Given the description of an element on the screen output the (x, y) to click on. 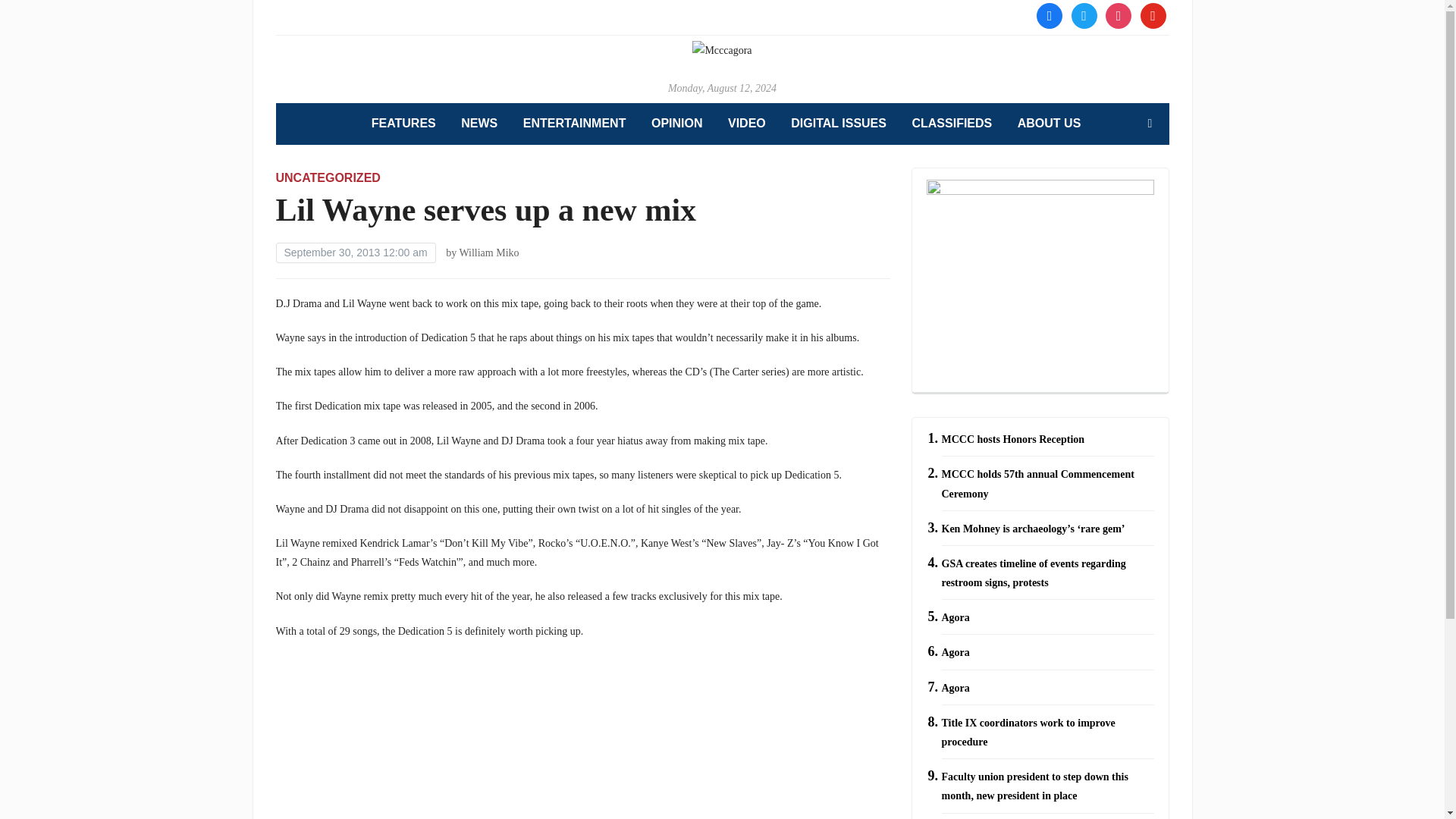
Permanent Link to Agora (955, 687)
twitter (1083, 14)
Instagram (1118, 14)
UNCATEGORIZED (328, 177)
CLASSIFIEDS (951, 124)
Twitter (1083, 14)
Facebook (1049, 14)
Default Label (1153, 14)
